Given the description of an element on the screen output the (x, y) to click on. 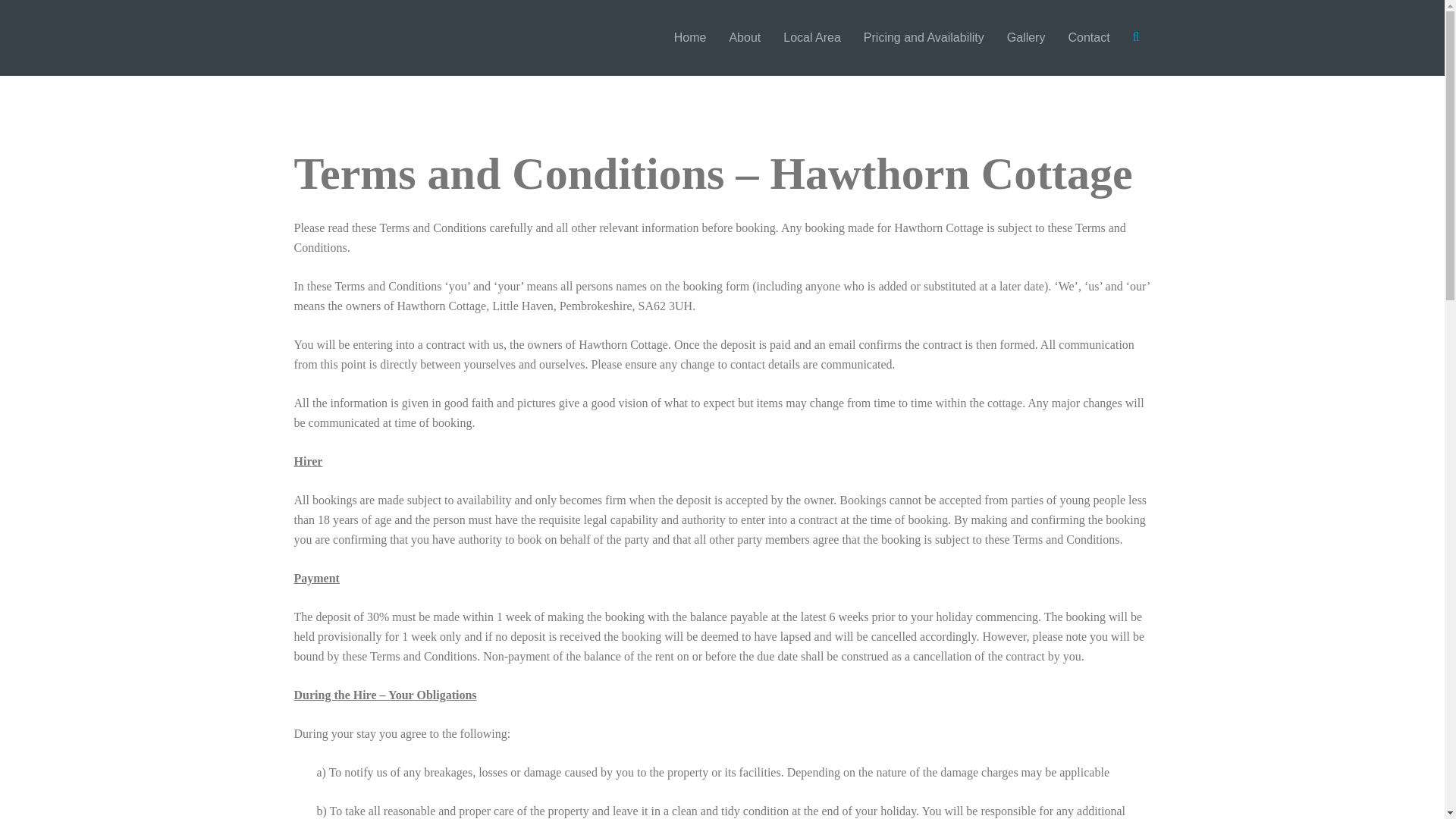
Local Area (811, 38)
Pricing and Availability (923, 38)
